Given the description of an element on the screen output the (x, y) to click on. 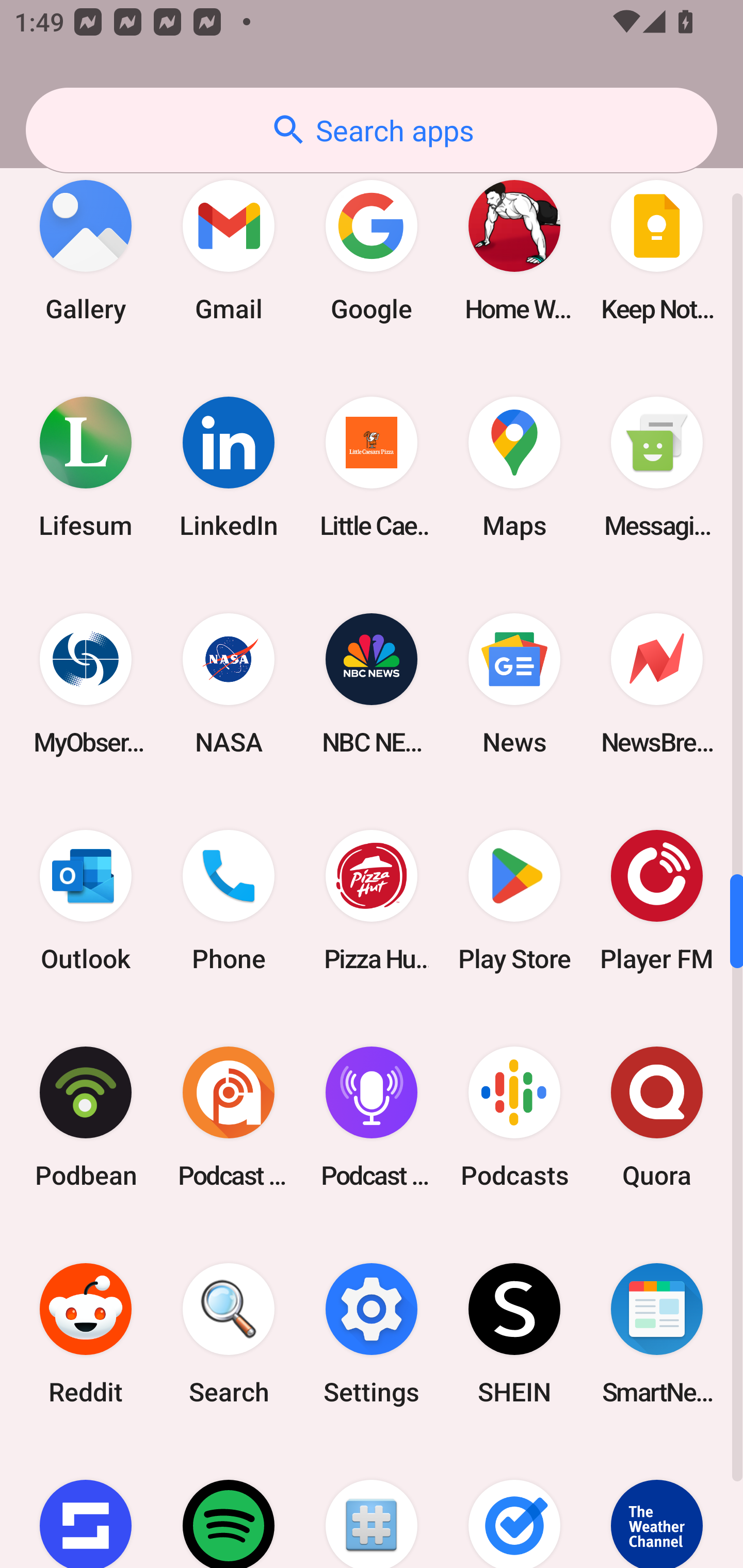
  Search apps (371, 130)
Gallery (85, 250)
Gmail (228, 250)
Google (371, 250)
Home Workout (514, 250)
Keep Notes (656, 250)
Lifesum (85, 467)
LinkedIn (228, 467)
Little Caesars Pizza (371, 467)
Maps (514, 467)
Messaging (656, 467)
MyObservatory (85, 683)
NASA (228, 683)
NBC NEWS (371, 683)
News (514, 683)
NewsBreak (656, 683)
Outlook (85, 899)
Phone (228, 899)
Pizza Hut HK & Macau (371, 899)
Play Store (514, 899)
Player FM (656, 899)
Podbean (85, 1117)
Podcast Addict (228, 1117)
Podcast Player (371, 1117)
Podcasts (514, 1117)
Quora (656, 1117)
Reddit (85, 1334)
Search (228, 1334)
Settings (371, 1334)
SHEIN (514, 1334)
SmartNews (656, 1334)
Sofascore (85, 1505)
Spotify (228, 1505)
Superuser (371, 1505)
Tasks (514, 1505)
The Weather Channel (656, 1505)
